Given the description of an element on the screen output the (x, y) to click on. 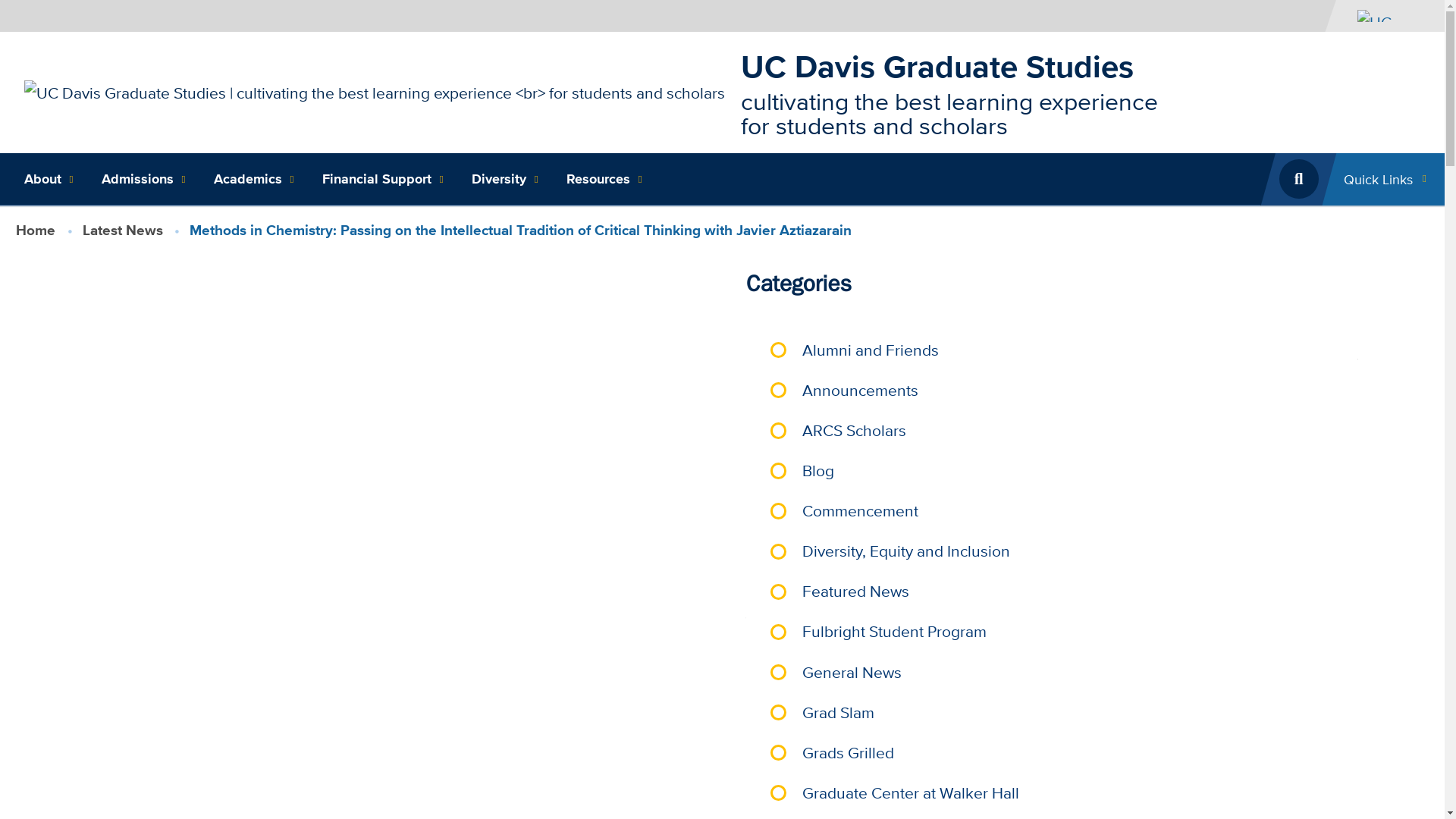
Tuesday, March 26, 2024 - 8:58am (916, 680)
Home (374, 91)
Our Commitment to Diversity (503, 179)
UC Davis Graduate Studies (937, 65)
About (46, 179)
Home (937, 65)
Open Search (1298, 179)
